Given the description of an element on the screen output the (x, y) to click on. 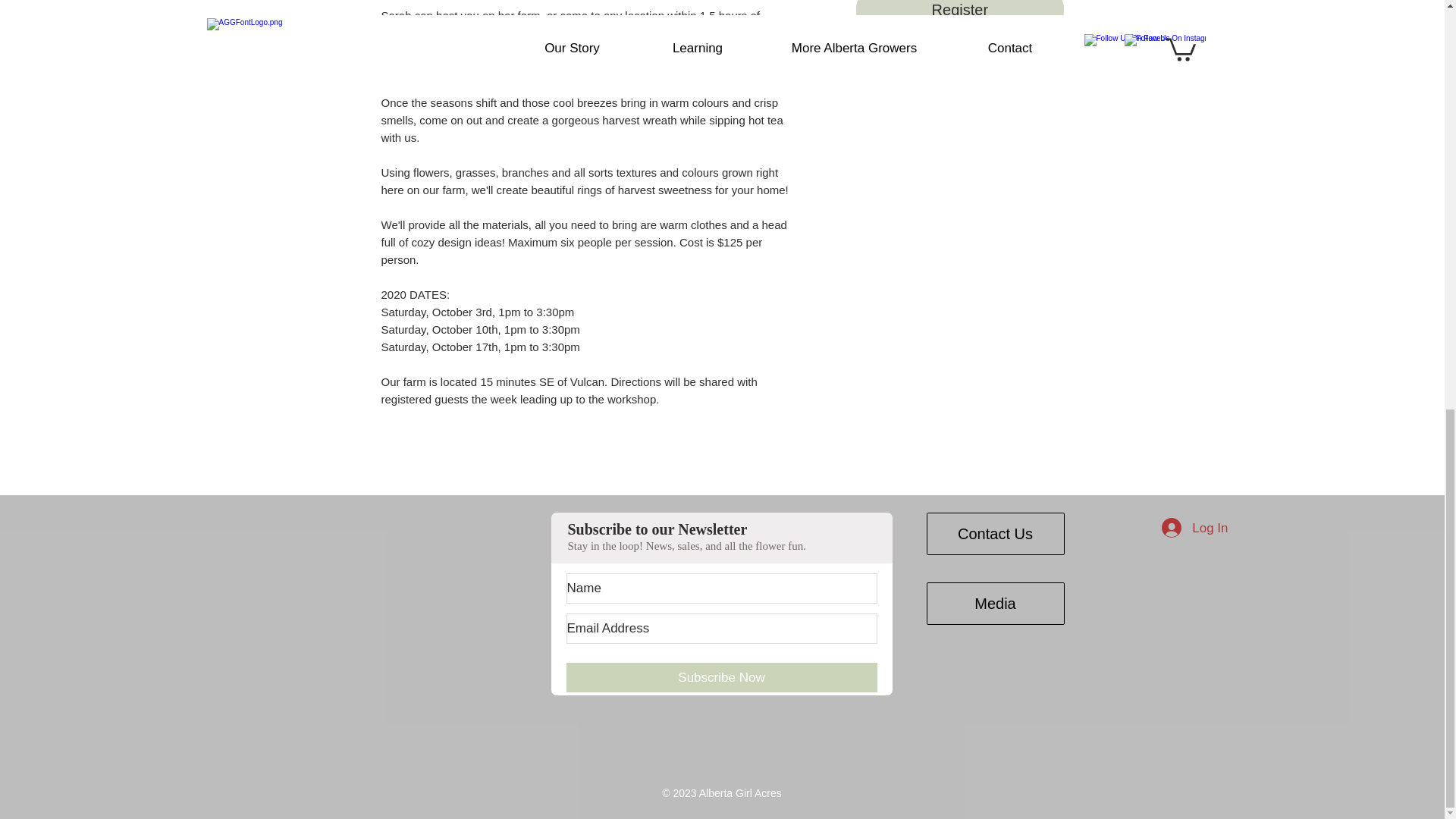
Register (959, 13)
Subscribe Now (721, 677)
Media (995, 603)
Contact Us (995, 533)
Log In (1195, 527)
